Given the description of an element on the screen output the (x, y) to click on. 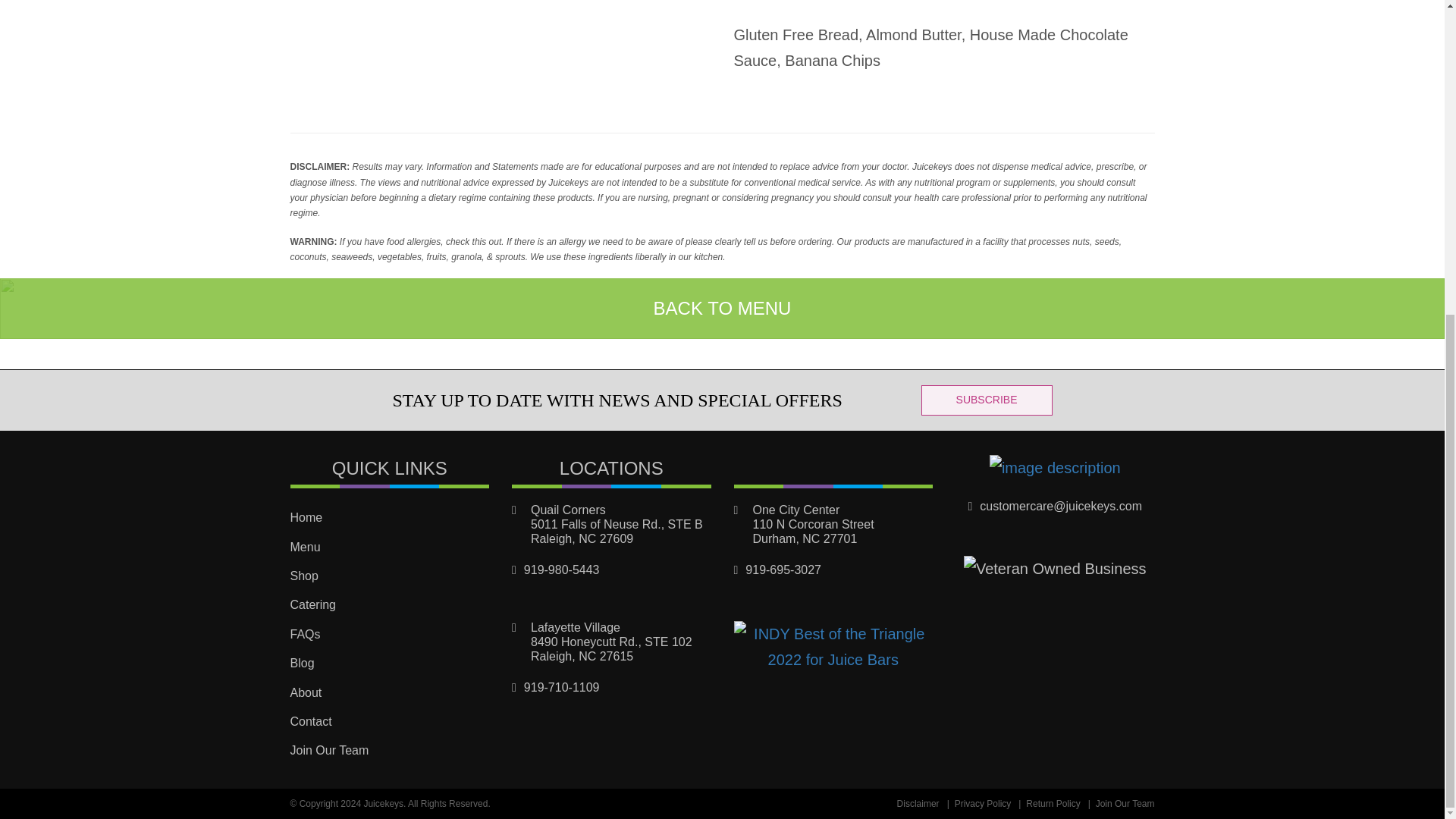
BACK TO MENU (722, 308)
SUBSCRIBE (986, 399)
Menu (389, 547)
Home (389, 517)
